Given the description of an element on the screen output the (x, y) to click on. 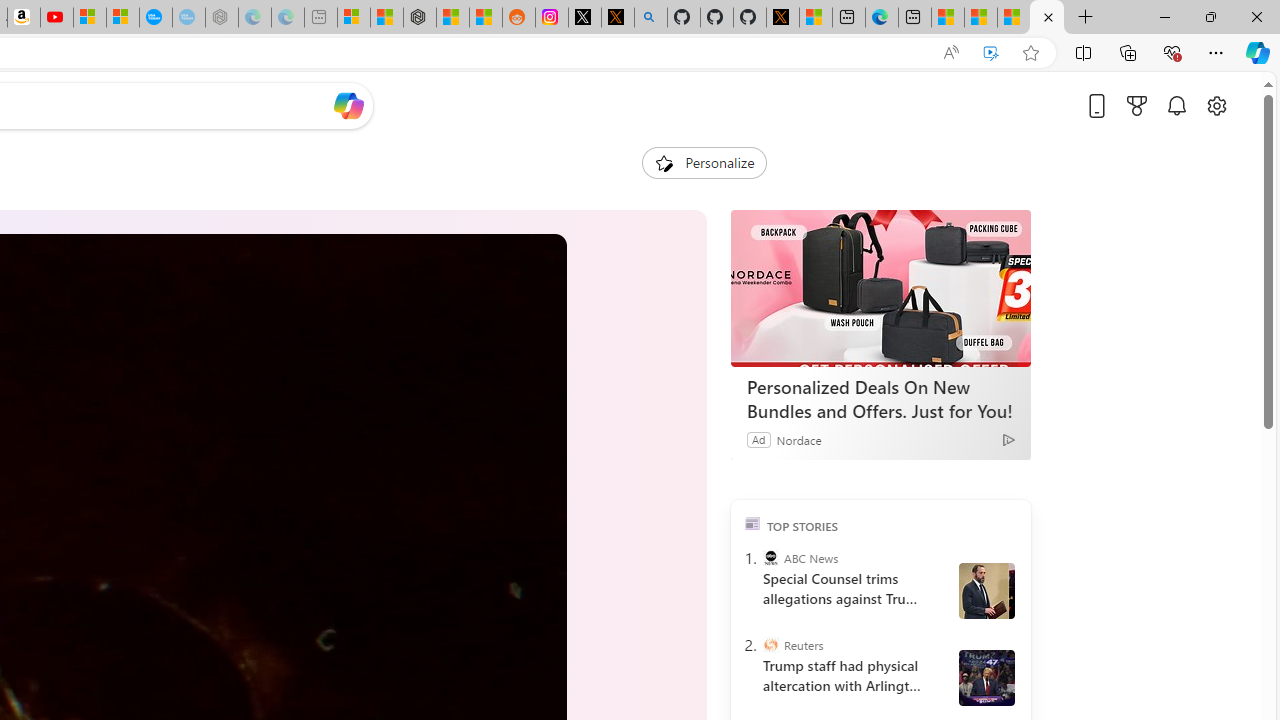
Personalized Deals On New Bundles and Offers. Just for You! (879, 288)
X Privacy Policy (782, 17)
Enhance video (991, 53)
Opinion: Op-Ed and Commentary - USA TODAY (155, 17)
